Given the description of an element on the screen output the (x, y) to click on. 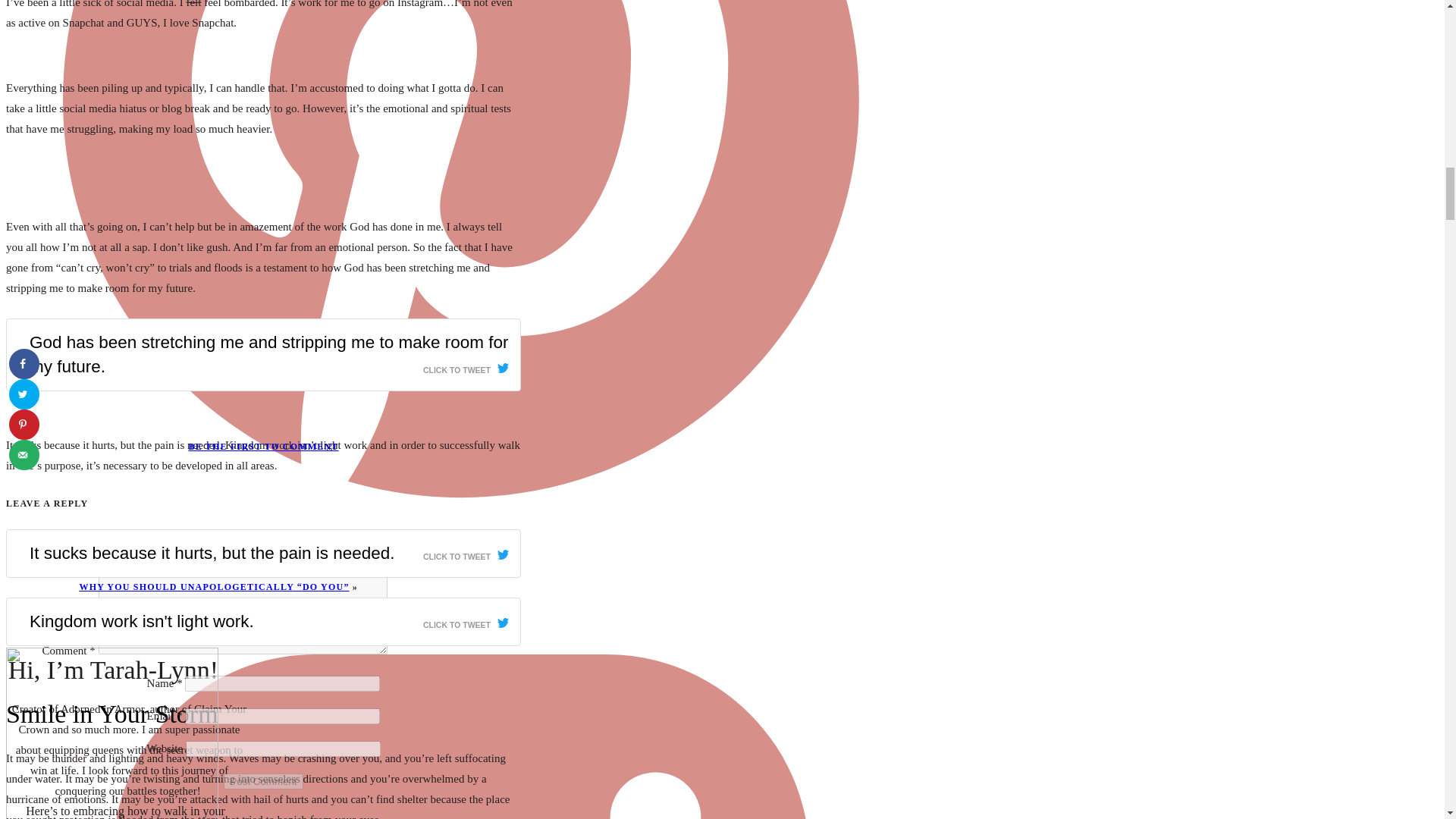
Post Comment (263, 781)
